Given the description of an element on the screen output the (x, y) to click on. 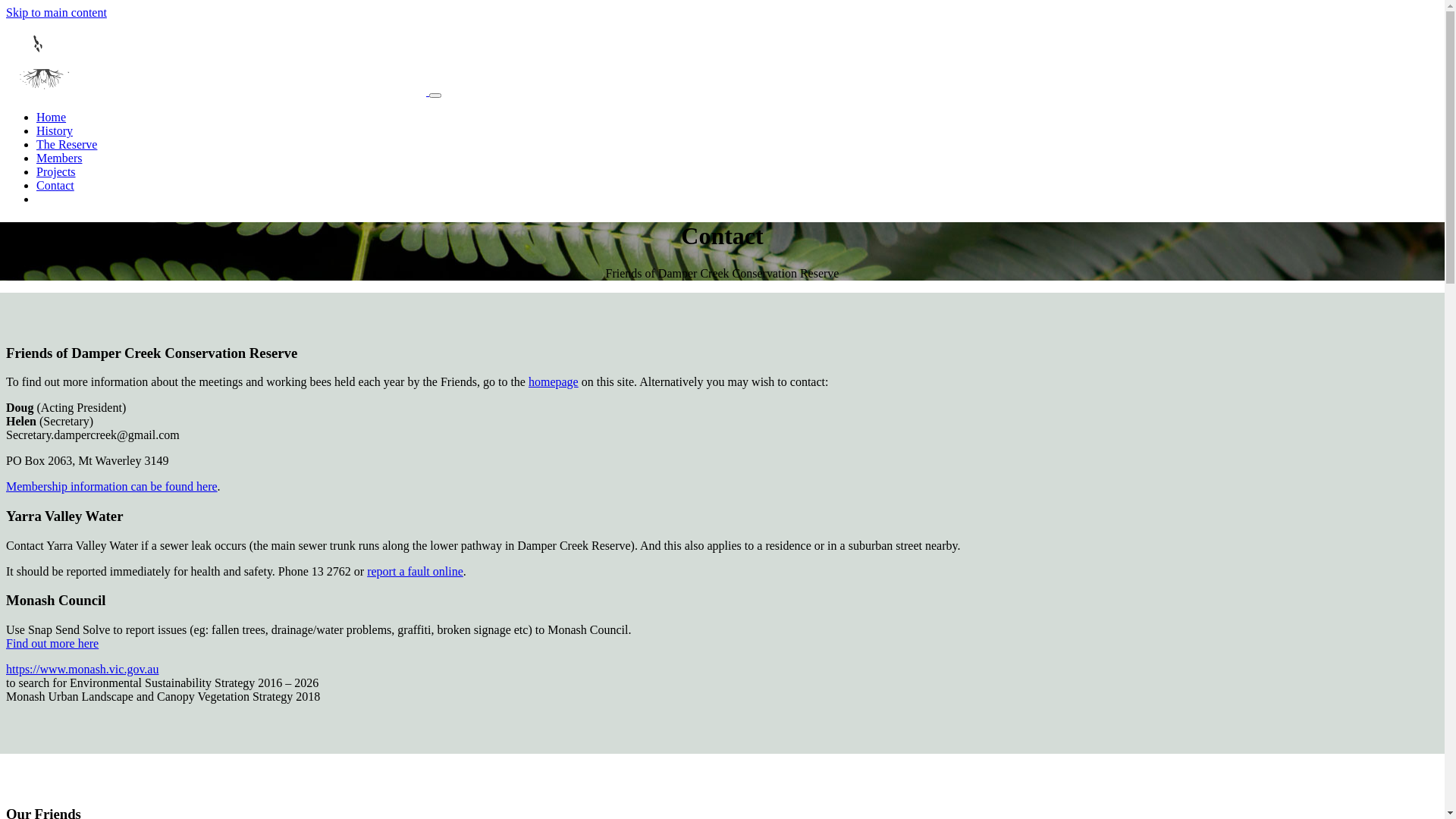
History Element type: text (54, 130)
homepage Element type: text (553, 381)
Home Element type: text (50, 116)
Contact Element type: text (55, 184)
Find out more here Element type: text (52, 643)
The Reserve Element type: text (66, 144)
Projects Element type: text (55, 171)
https://www.monash.vic.gov.au Element type: text (82, 668)
Skip to main content Element type: text (56, 12)
Membership information can be found here Element type: text (111, 486)
Members Element type: text (58, 157)
report a fault online Element type: text (415, 570)
Friends of Damper Creek Conservation Reserve Element type: hover (217, 90)
